Given the description of an element on the screen output the (x, y) to click on. 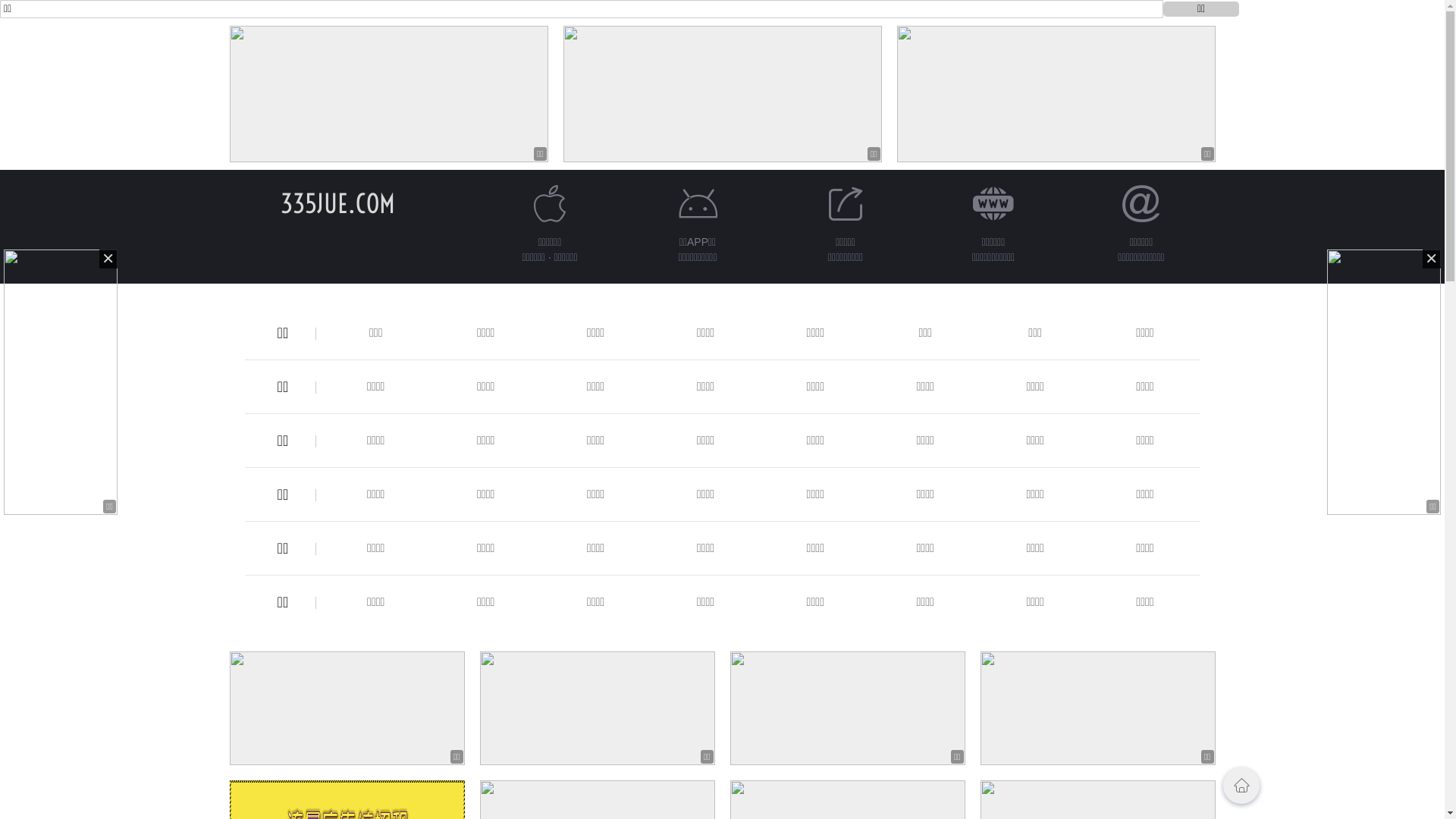
335JUE.COM Element type: text (337, 203)
